Given the description of an element on the screen output the (x, y) to click on. 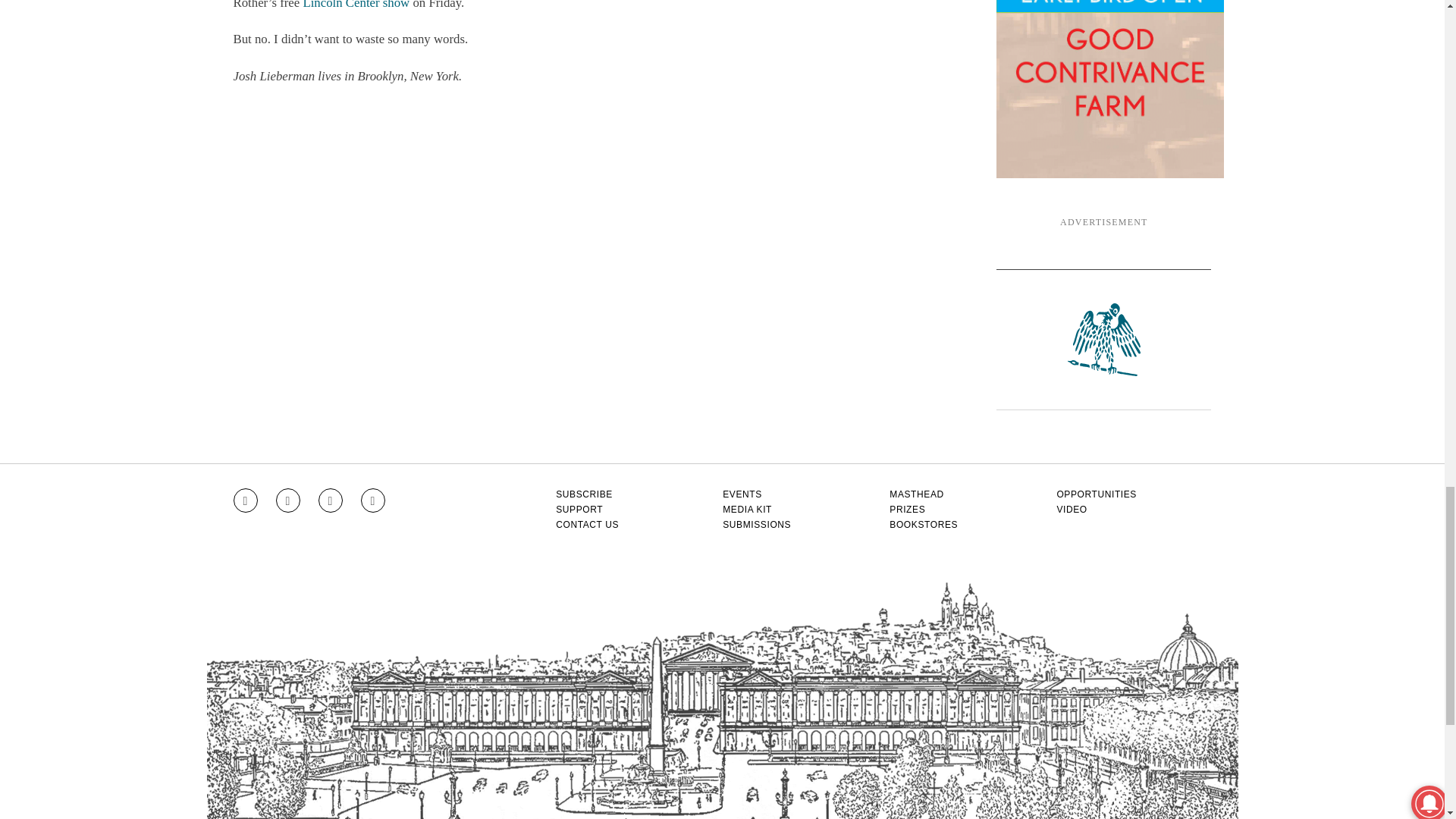
Go to Twitter feed (330, 500)
3rd party ad content (1109, 89)
Go to Facebook page (287, 500)
Go to RSS feed (373, 500)
Go to Instagram feed (244, 500)
